Given the description of an element on the screen output the (x, y) to click on. 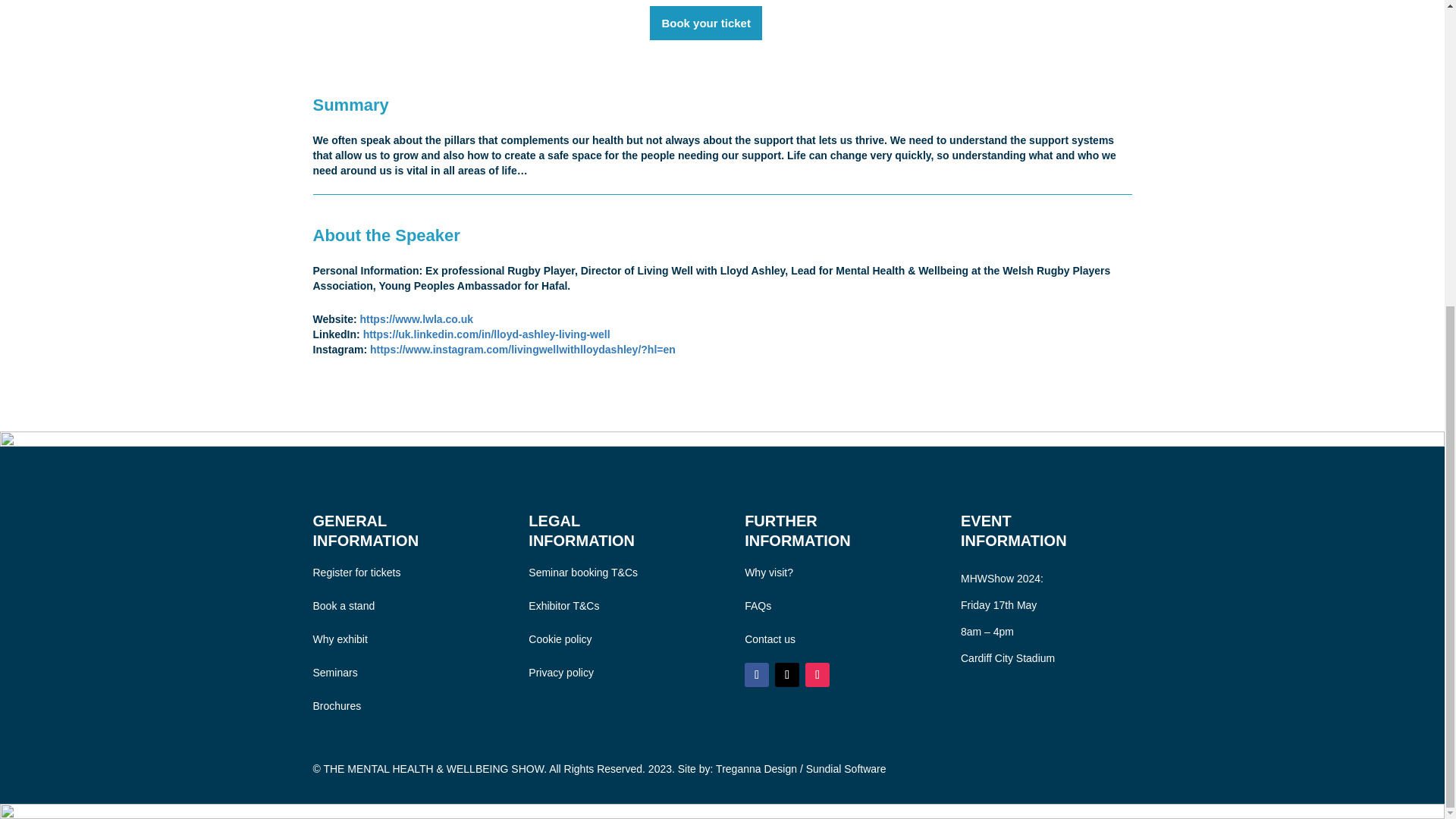
Why exhibit (339, 639)
Book a stand (343, 605)
Register for tickets (356, 572)
FAQs (757, 605)
Seminars (334, 672)
Book your ticket (705, 22)
Follow on Instagram (817, 674)
Cookie policy (559, 639)
Why visit? (768, 572)
Follow on X (786, 674)
